Given the description of an element on the screen output the (x, y) to click on. 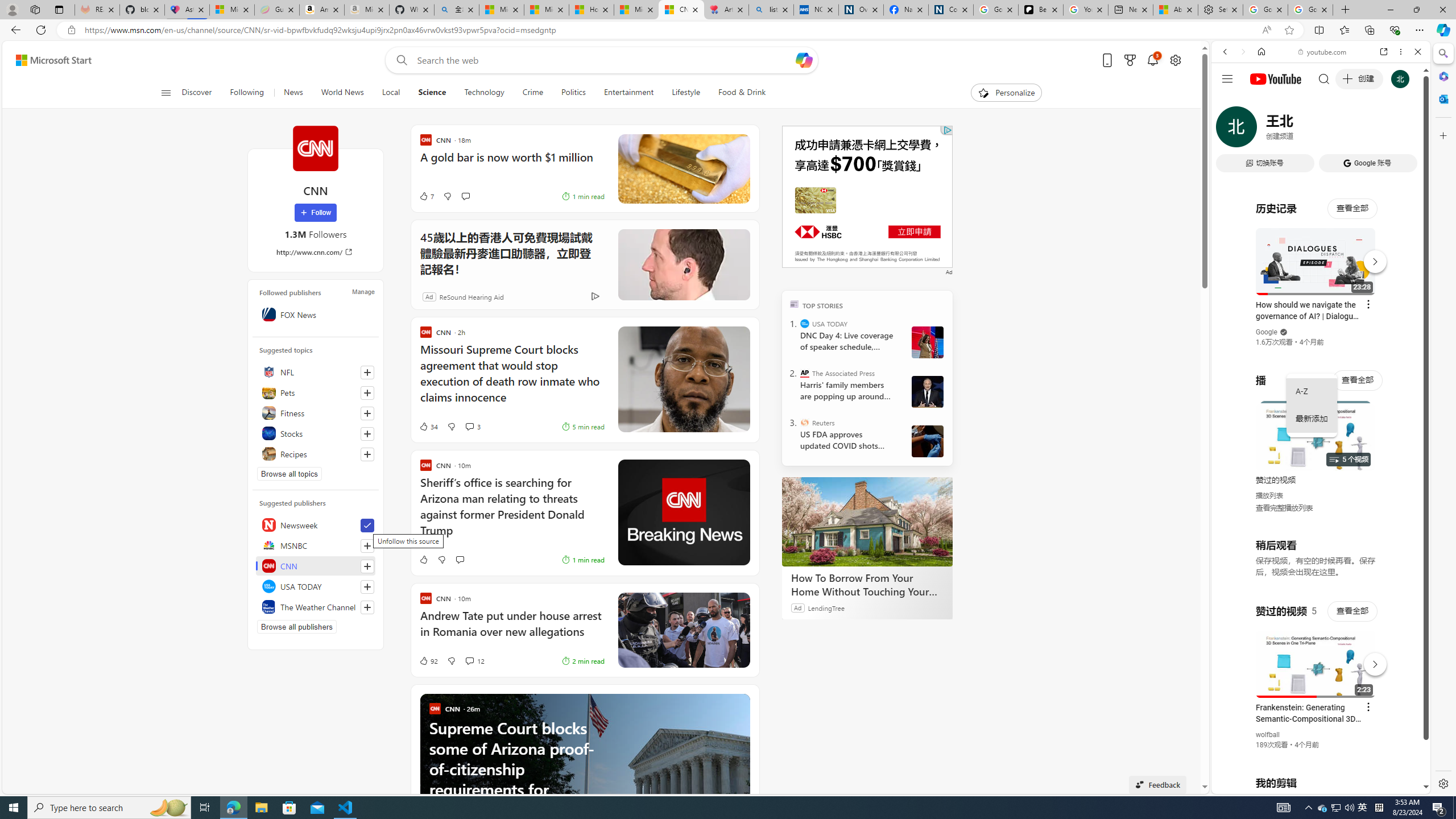
The Associated Press (804, 372)
Follow this topic (367, 454)
Like (422, 559)
IMAGES (1262, 130)
LendingTree (826, 607)
Science (431, 92)
